Given the description of an element on the screen output the (x, y) to click on. 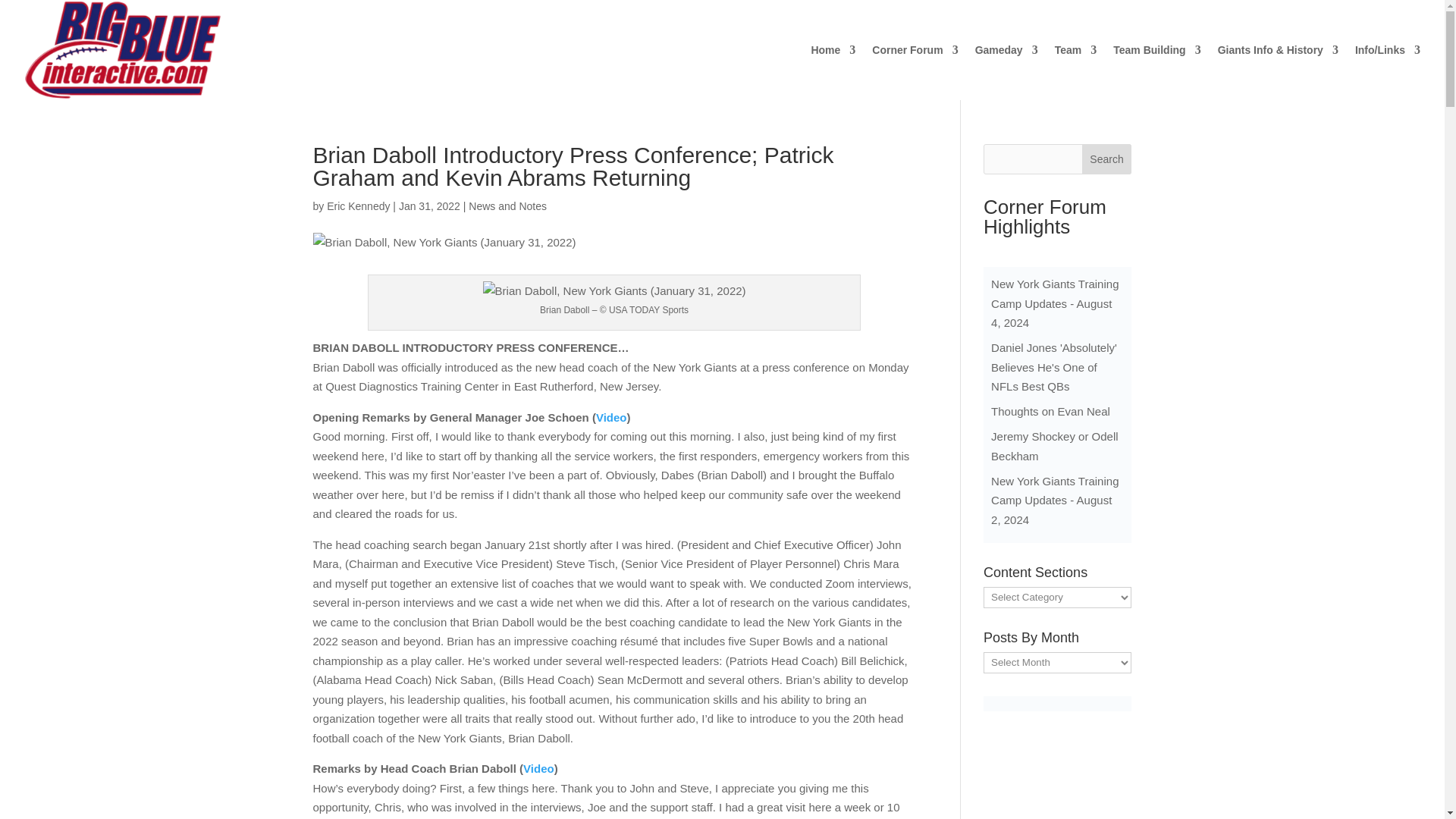
Corner Forum (915, 72)
Gameday (1006, 72)
Search (1106, 159)
Team Building (1156, 72)
Posts by Eric Kennedy (358, 205)
